Given the description of an element on the screen output the (x, y) to click on. 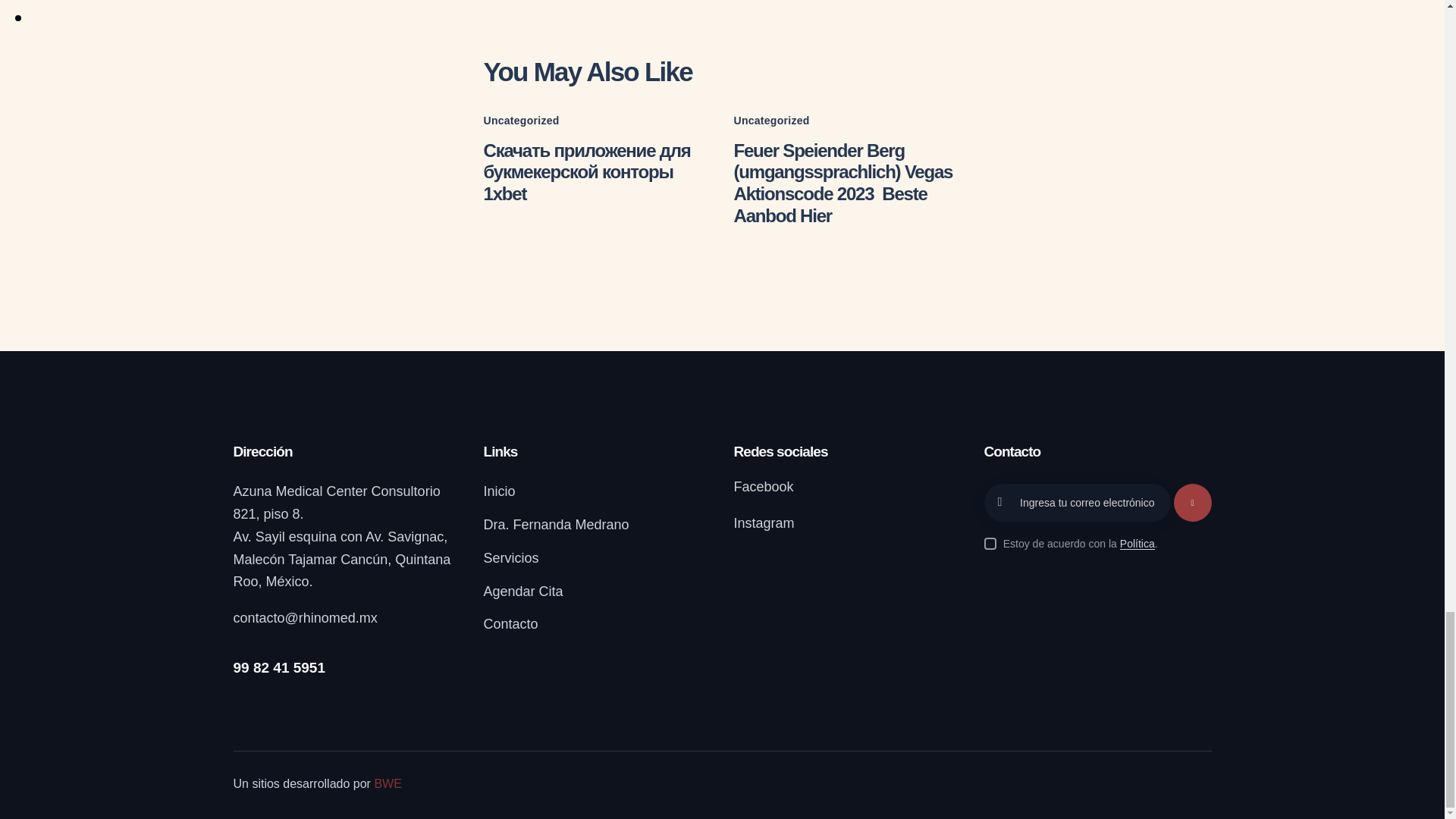
1 (1175, 488)
